Given the description of an element on the screen output the (x, y) to click on. 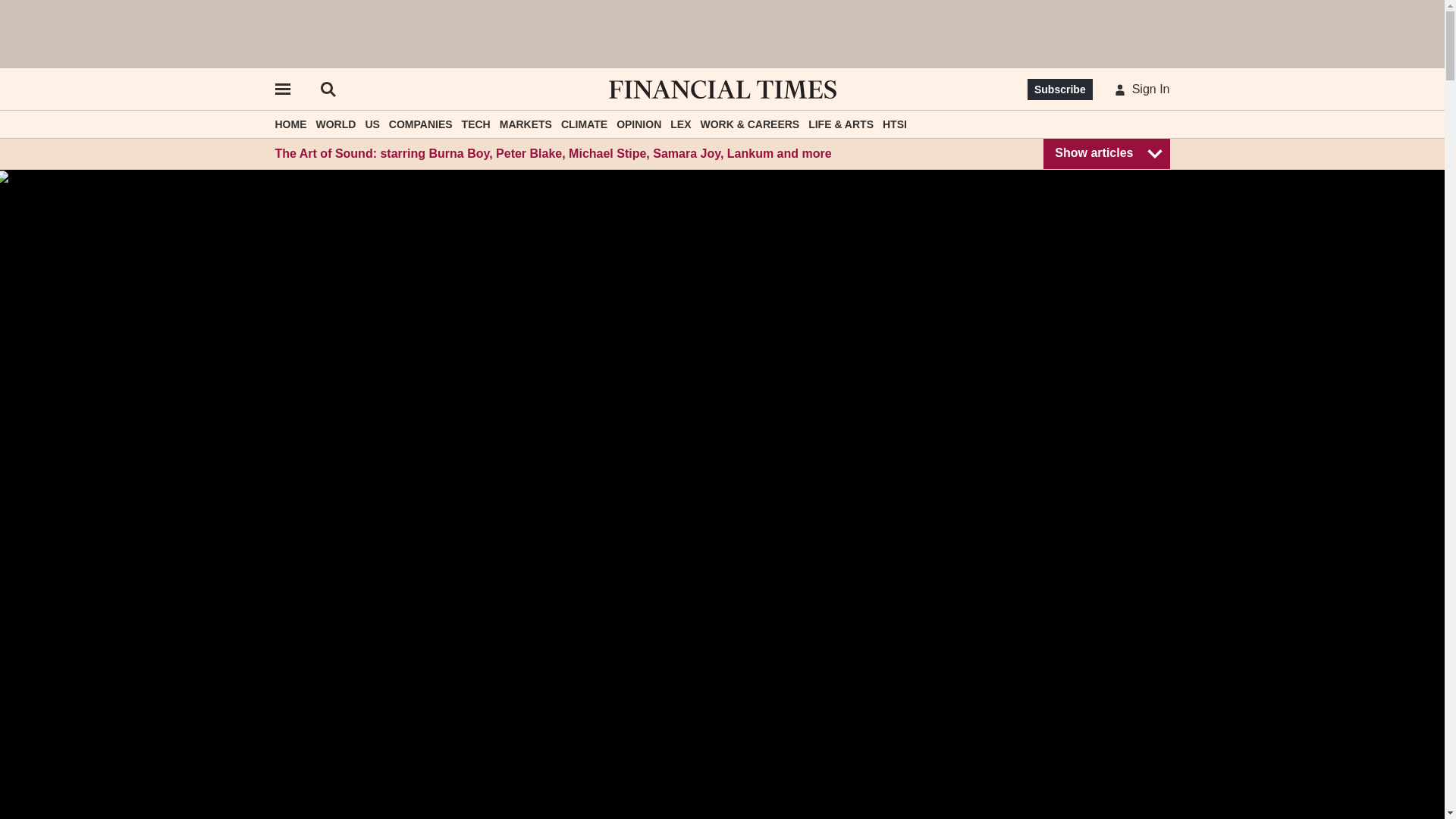
Go to Financial Times homepage (721, 89)
OPEN SEARCH BAR (327, 89)
Sign In (1139, 89)
Financial Times (721, 89)
WORLD (335, 124)
Financial Times (721, 89)
HOME (290, 124)
Subscribe (1060, 88)
OPEN SIDE NAVIGATION MENU (281, 89)
Open search bar (327, 89)
